Given the description of an element on the screen output the (x, y) to click on. 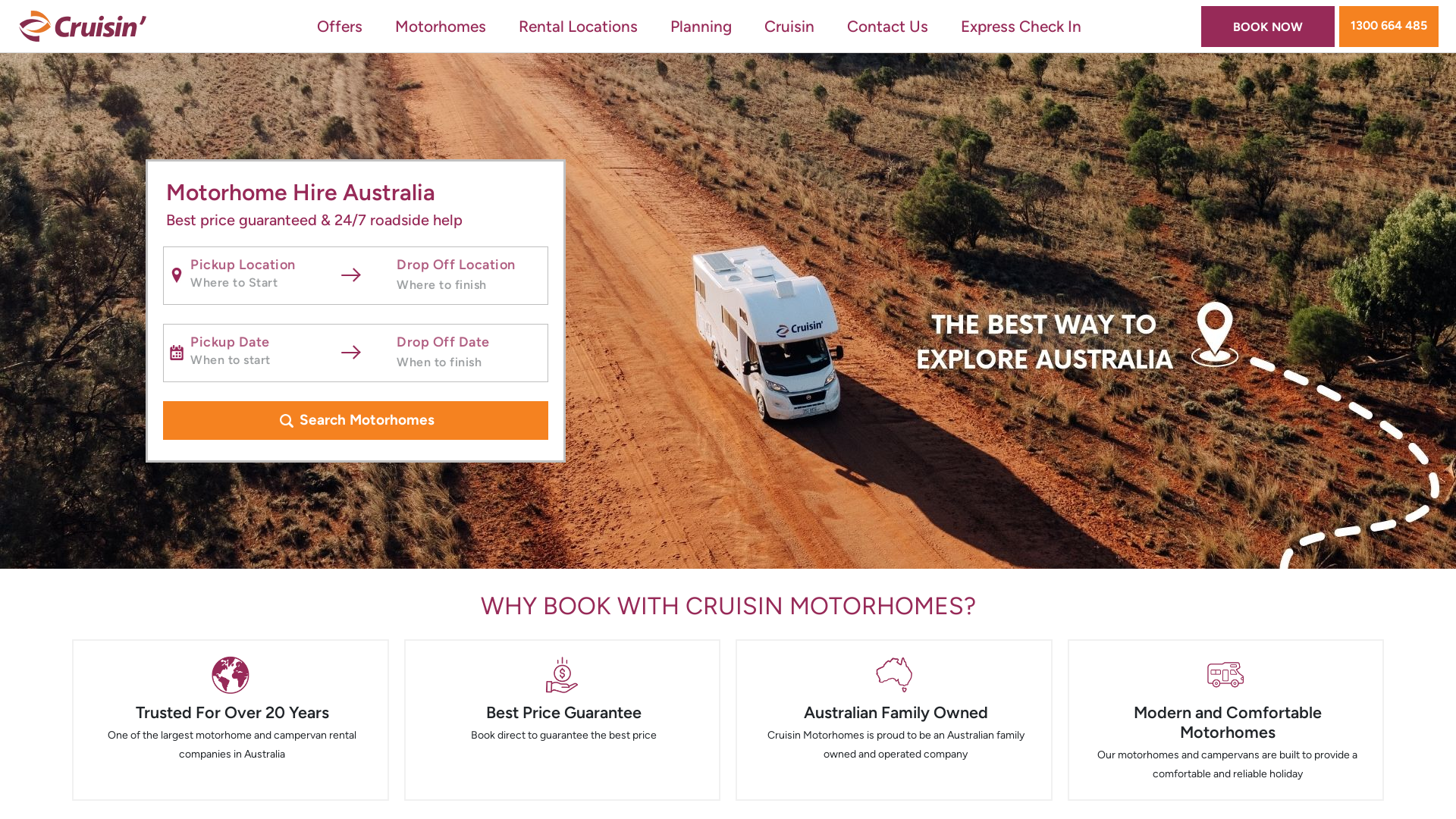
Offers Element type: text (339, 25)
Planning Element type: text (700, 25)
Contact Us Element type: text (887, 25)
Rental Locations Element type: text (577, 25)
Cruisin Element type: text (789, 25)
Express Check In Element type: text (1020, 25)
1300 664 485 Element type: text (1388, 26)
Motorhomes Element type: text (440, 25)
Search Motorhomes Element type: text (355, 420)
BOOK NOW Element type: text (1267, 26)
